Given the description of an element on the screen output the (x, y) to click on. 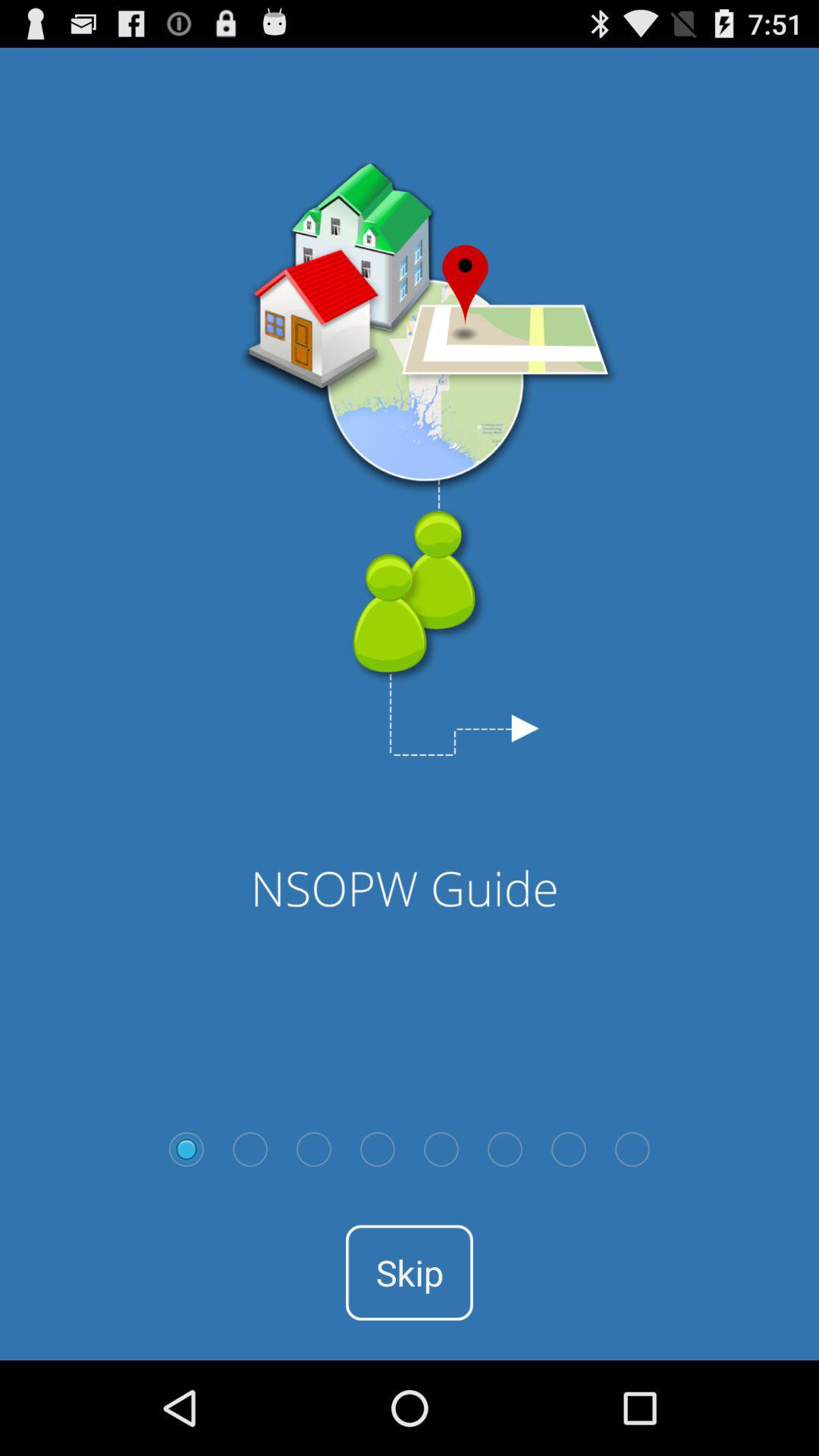
launch the skip item (409, 1272)
